Given the description of an element on the screen output the (x, y) to click on. 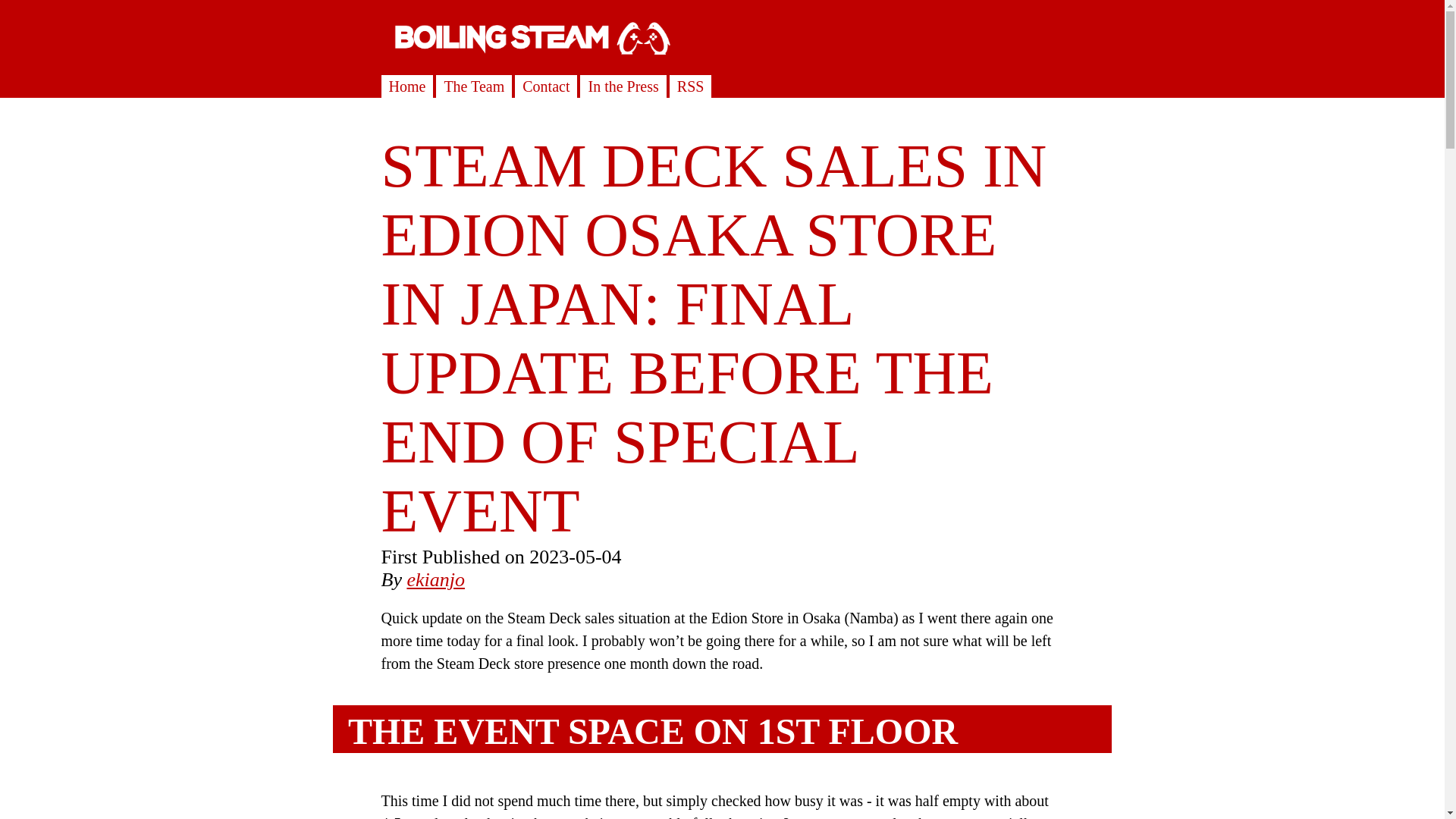
The Team (473, 86)
Home (406, 86)
RSS (690, 86)
Contact (545, 86)
ekianjo (435, 579)
In the Press (623, 86)
